Given the description of an element on the screen output the (x, y) to click on. 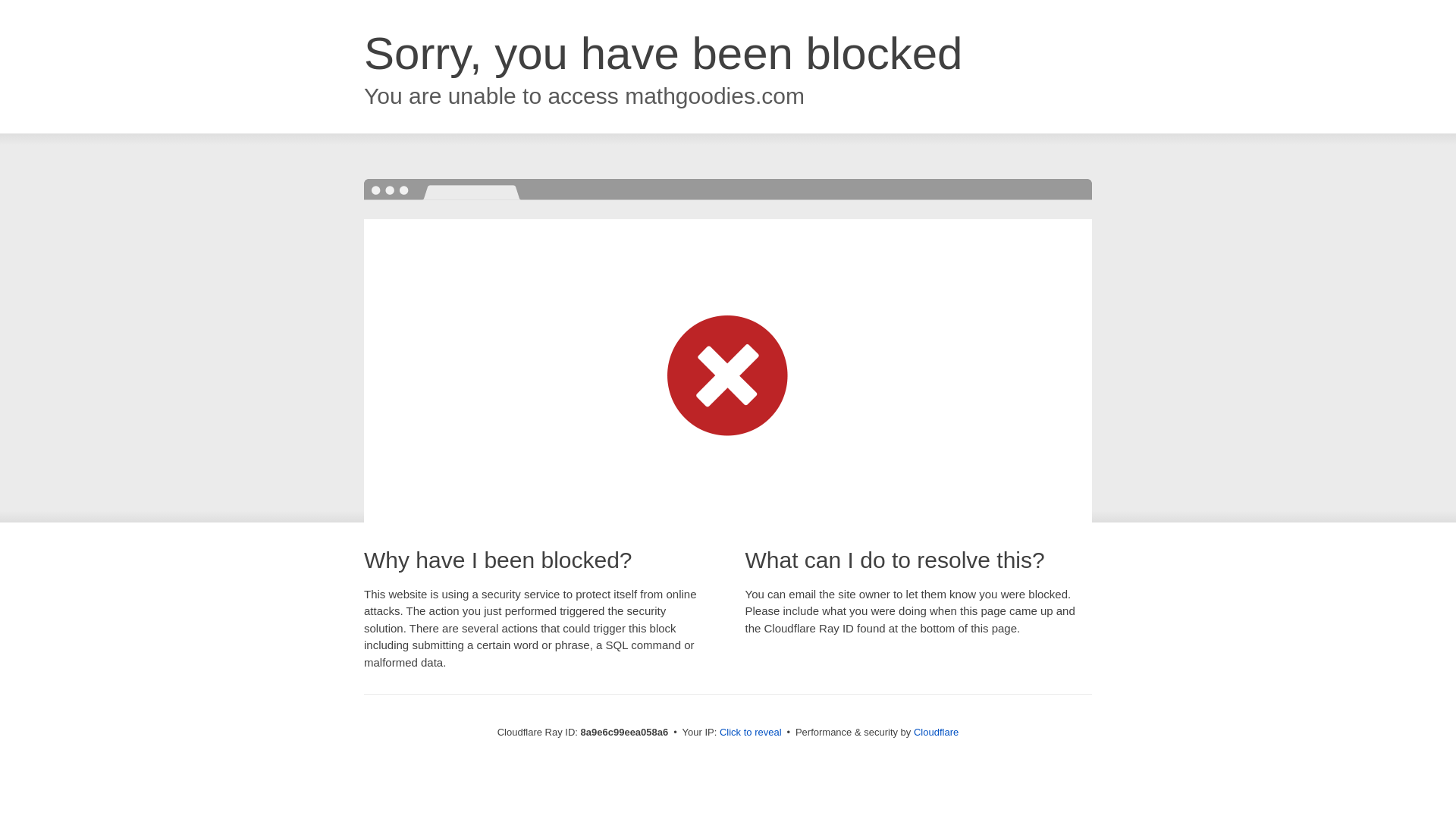
Cloudflare (936, 731)
Click to reveal (750, 732)
